Given the description of an element on the screen output the (x, y) to click on. 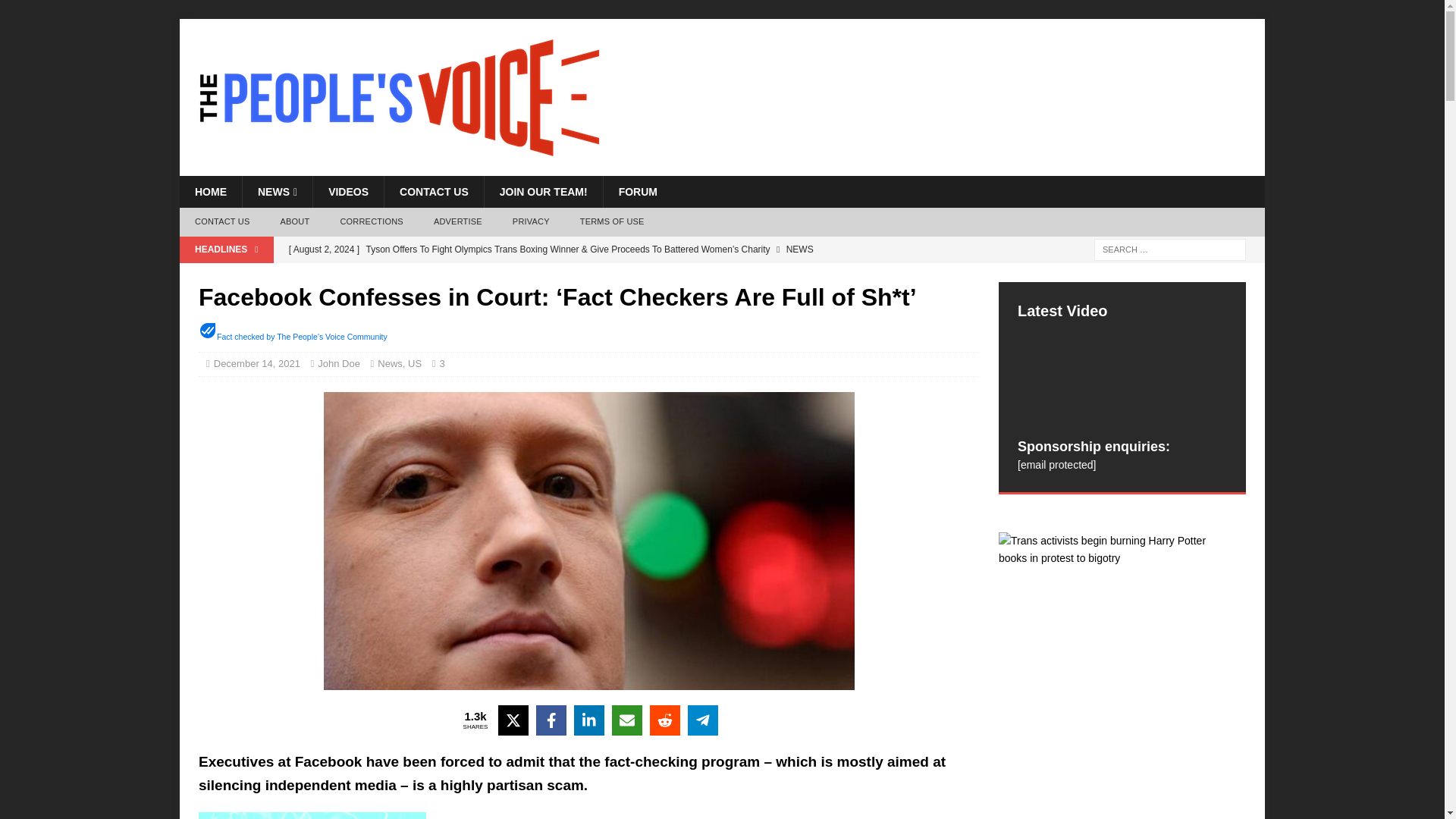
ABOUT (294, 222)
CONTACT US (221, 222)
News (390, 363)
FORUM (637, 192)
US (414, 363)
December 14, 2021 (256, 363)
HOME (210, 192)
VIDEOS (348, 192)
JOIN OUR TEAM! (542, 192)
ADVERTISE (458, 222)
Fact checked by The People's Voice Community (301, 336)
3 (445, 363)
NEWS (277, 192)
PRIVACY (530, 222)
Search (56, 11)
